Given the description of an element on the screen output the (x, y) to click on. 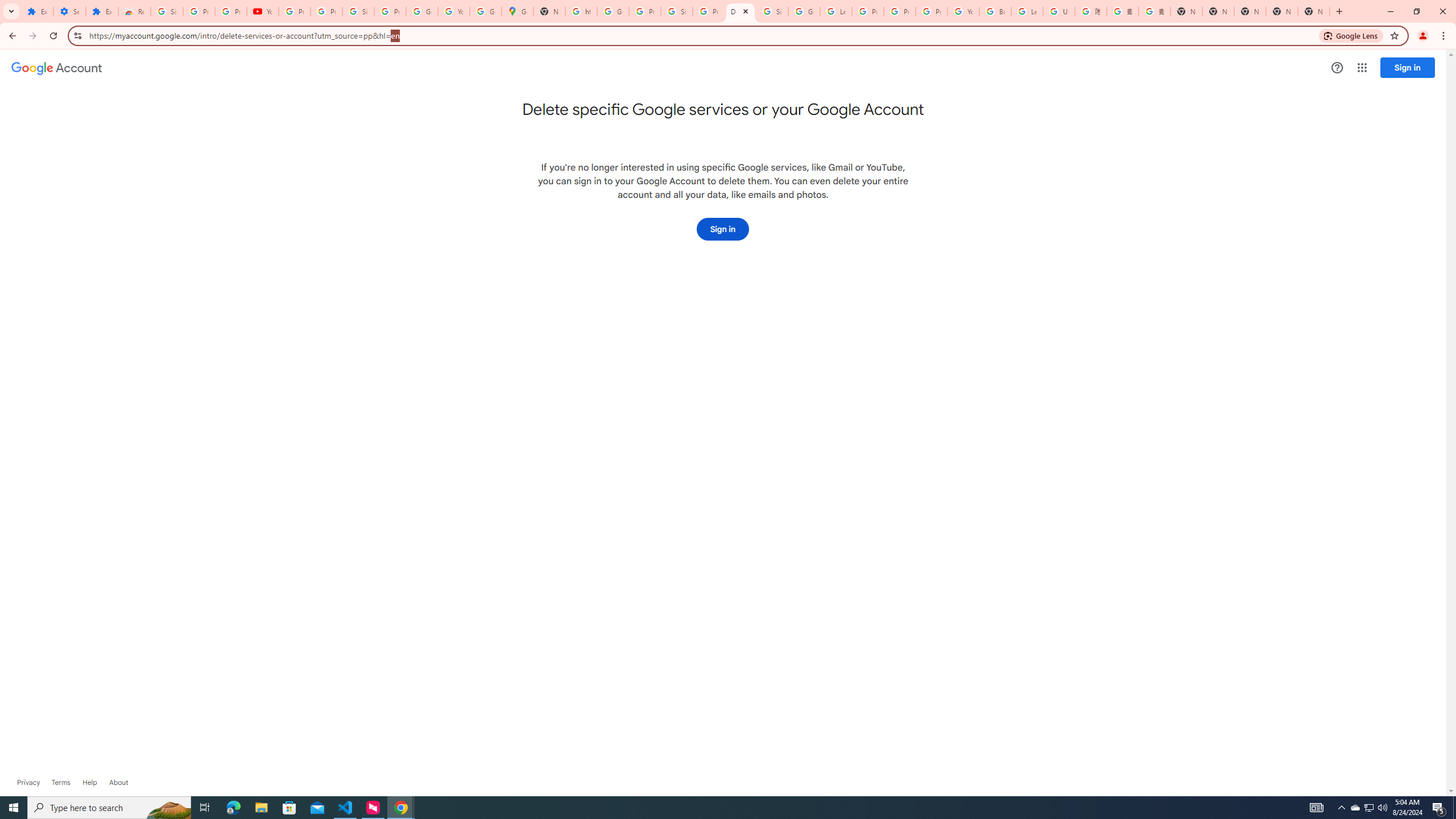
YouTube (262, 11)
Extensions (37, 11)
